Given the description of an element on the screen output the (x, y) to click on. 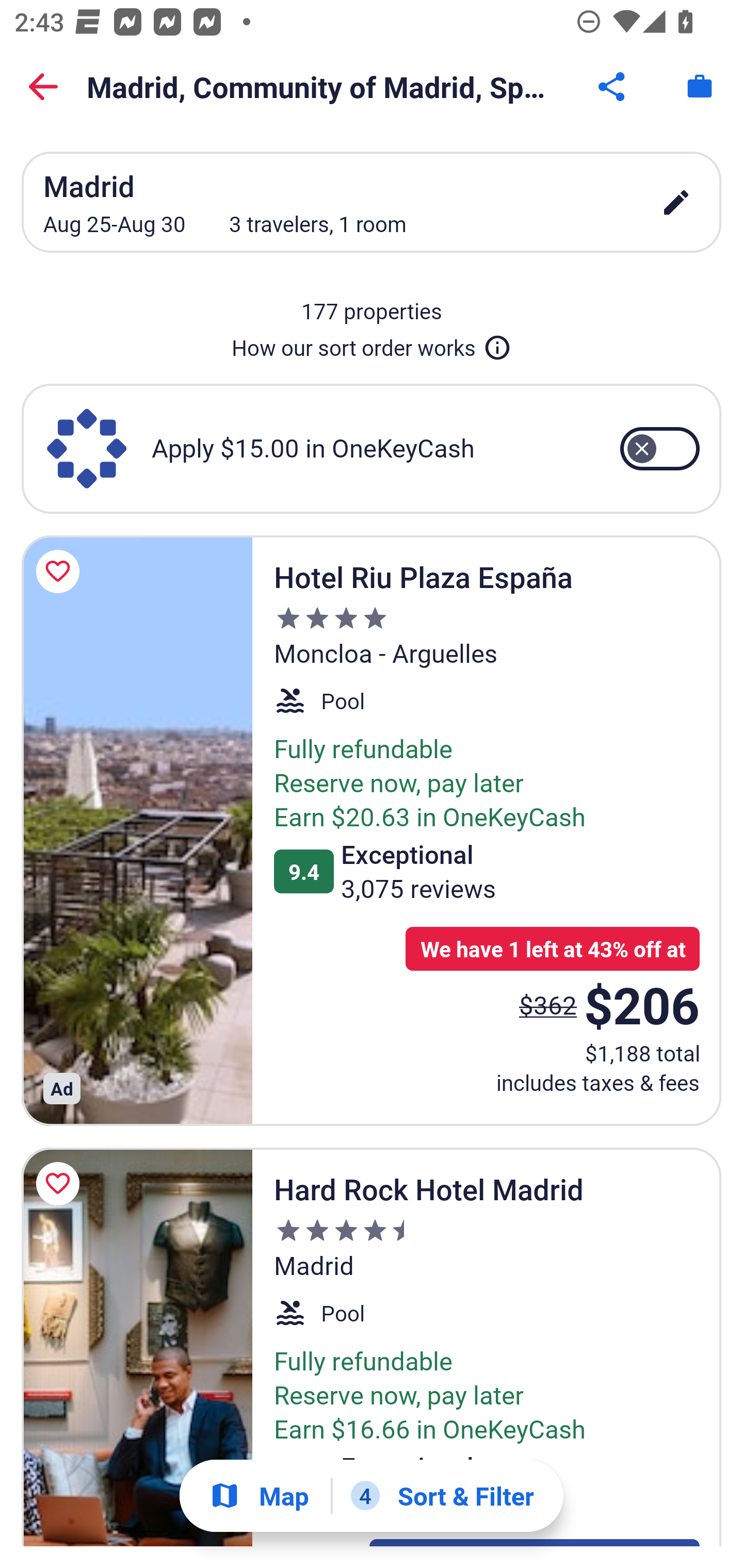
Back (43, 86)
Share Button (612, 86)
Trips. Button (699, 86)
Madrid Aug 25-Aug 30 3 travelers, 1 room edit (371, 202)
How our sort order works (371, 344)
Save Hotel Riu Plaza España to a trip (61, 571)
Hotel Riu Plaza España (136, 829)
$362 The price was $362 (547, 1004)
Save Hard Rock Hotel Madrid to a trip (61, 1183)
Hard Rock Hotel Madrid (136, 1346)
4 Sort & Filter 4 Filters applied. Filters Button (442, 1495)
Show map Map Show map Button (258, 1495)
